Given the description of an element on the screen output the (x, y) to click on. 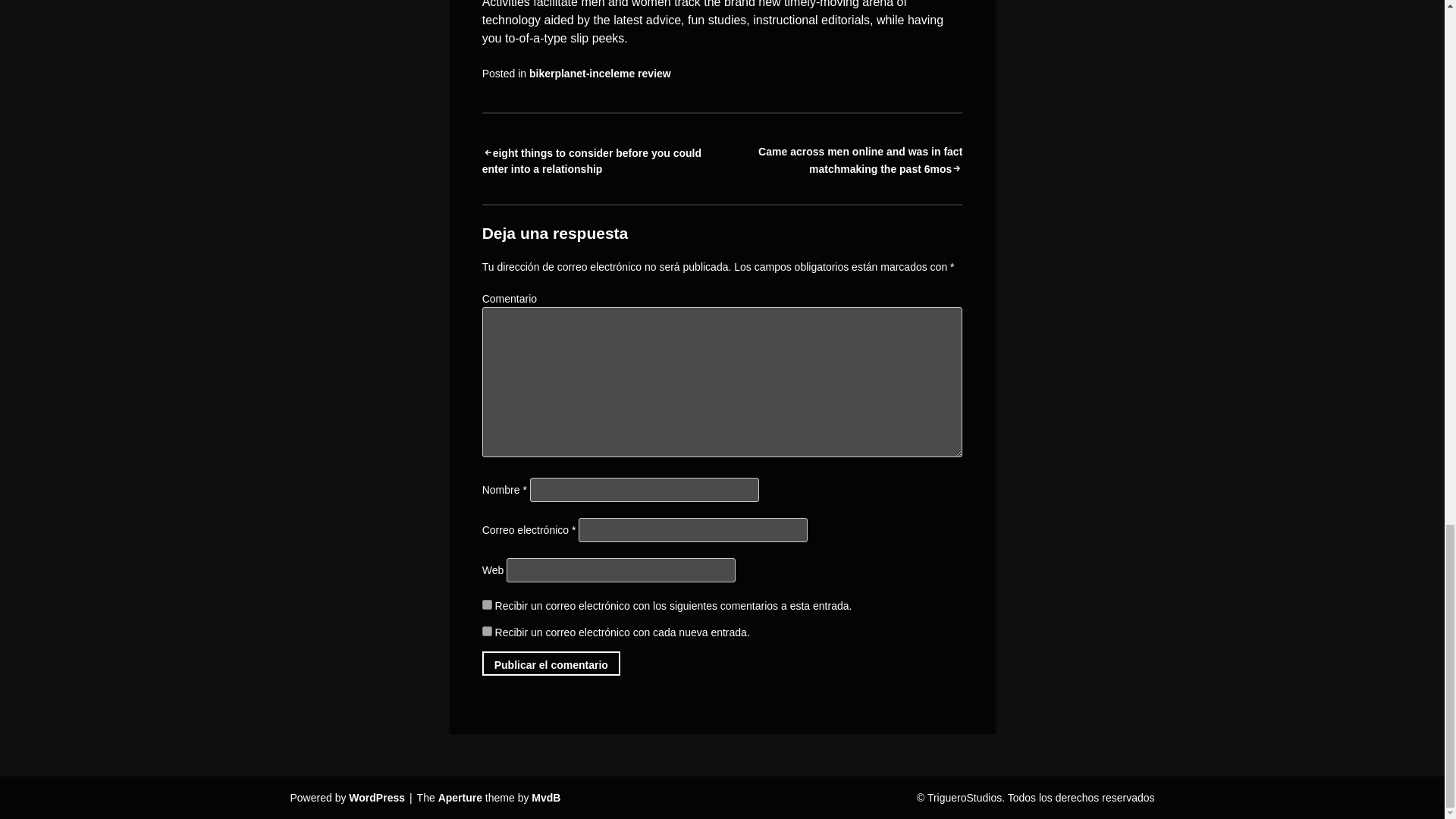
subscribe (486, 604)
subscribe (486, 631)
Publicar el comentario (550, 663)
